Given the description of an element on the screen output the (x, y) to click on. 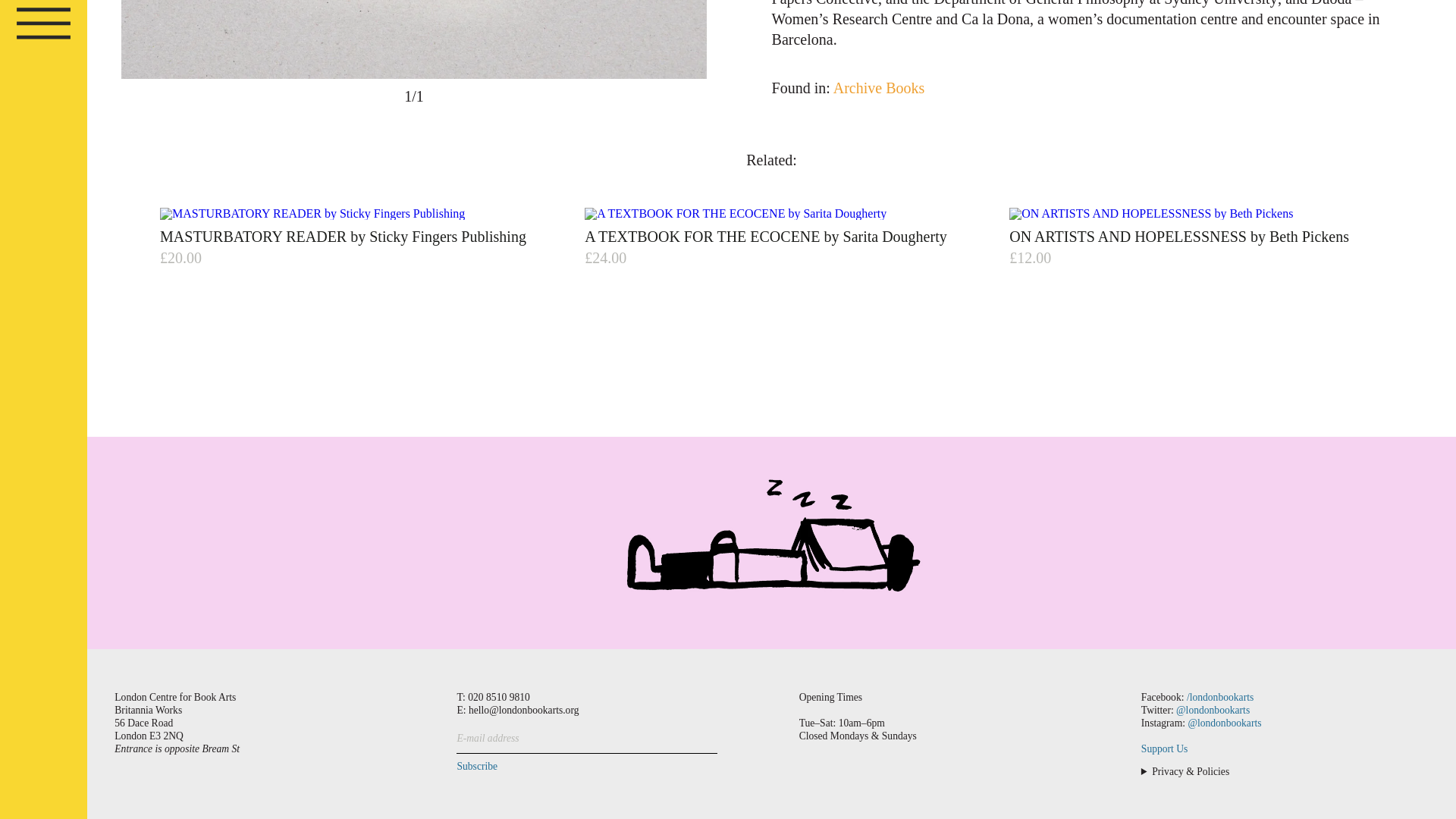
Subscribe (479, 766)
Support Us (1164, 748)
Archive Books (878, 87)
Subscribe (479, 766)
